Given the description of an element on the screen output the (x, y) to click on. 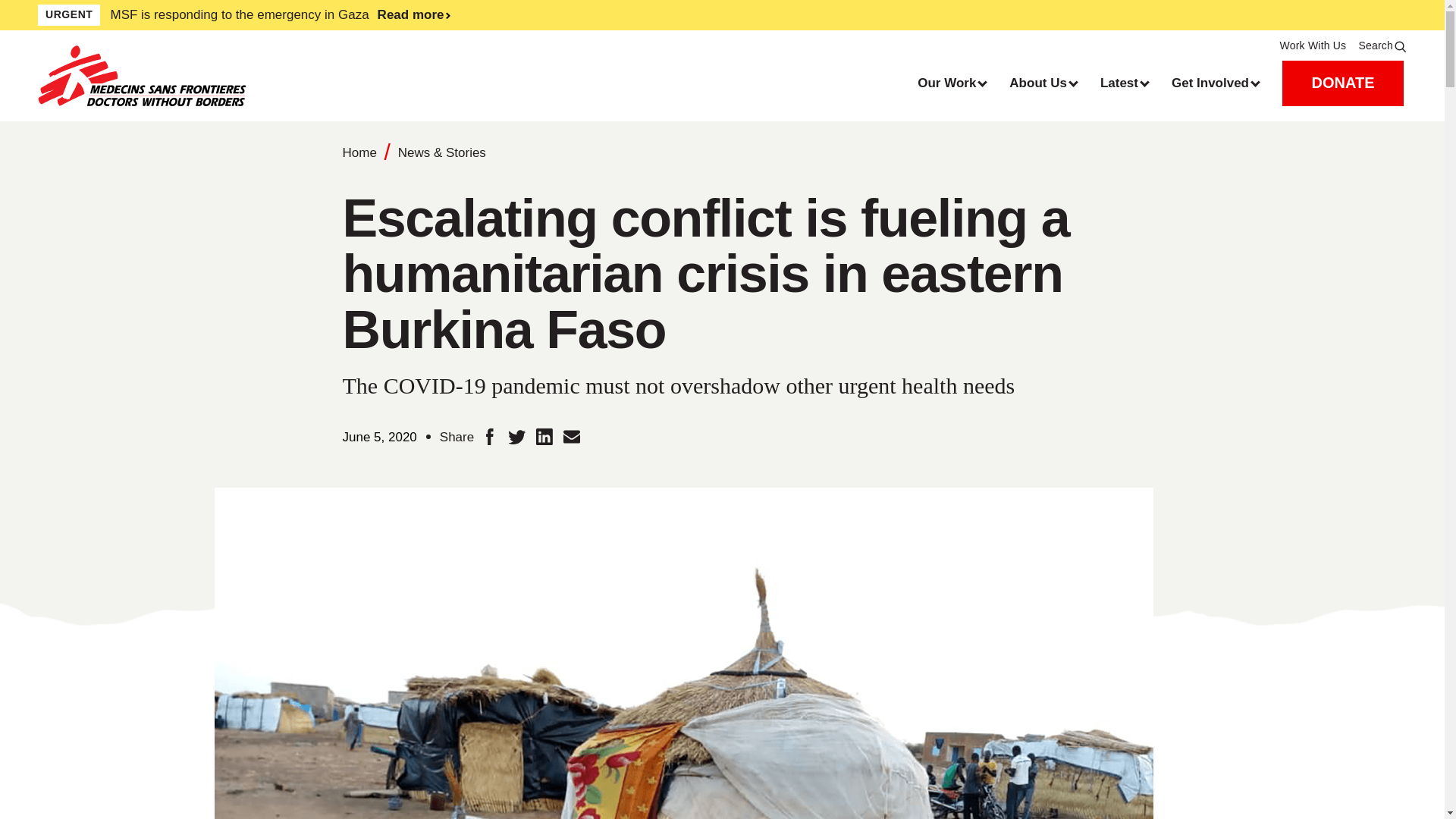
About Us (1043, 83)
Home (208, 75)
Our Work (951, 83)
Read more (548, 14)
Latest (1124, 83)
Work With Us (1312, 45)
Search (1382, 46)
